Given the description of an element on the screen output the (x, y) to click on. 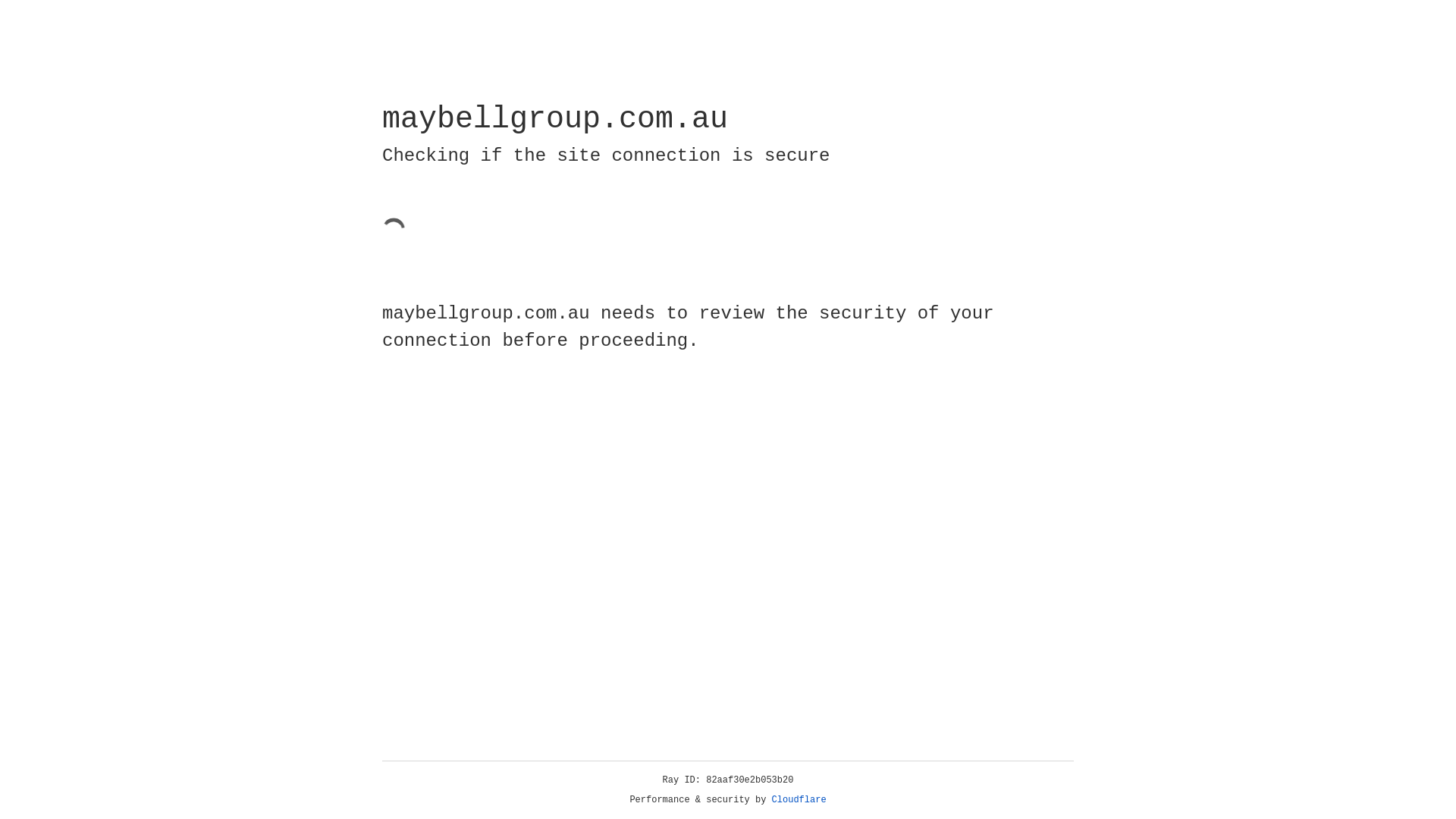
Cloudflare Element type: text (798, 799)
